Given the description of an element on the screen output the (x, y) to click on. 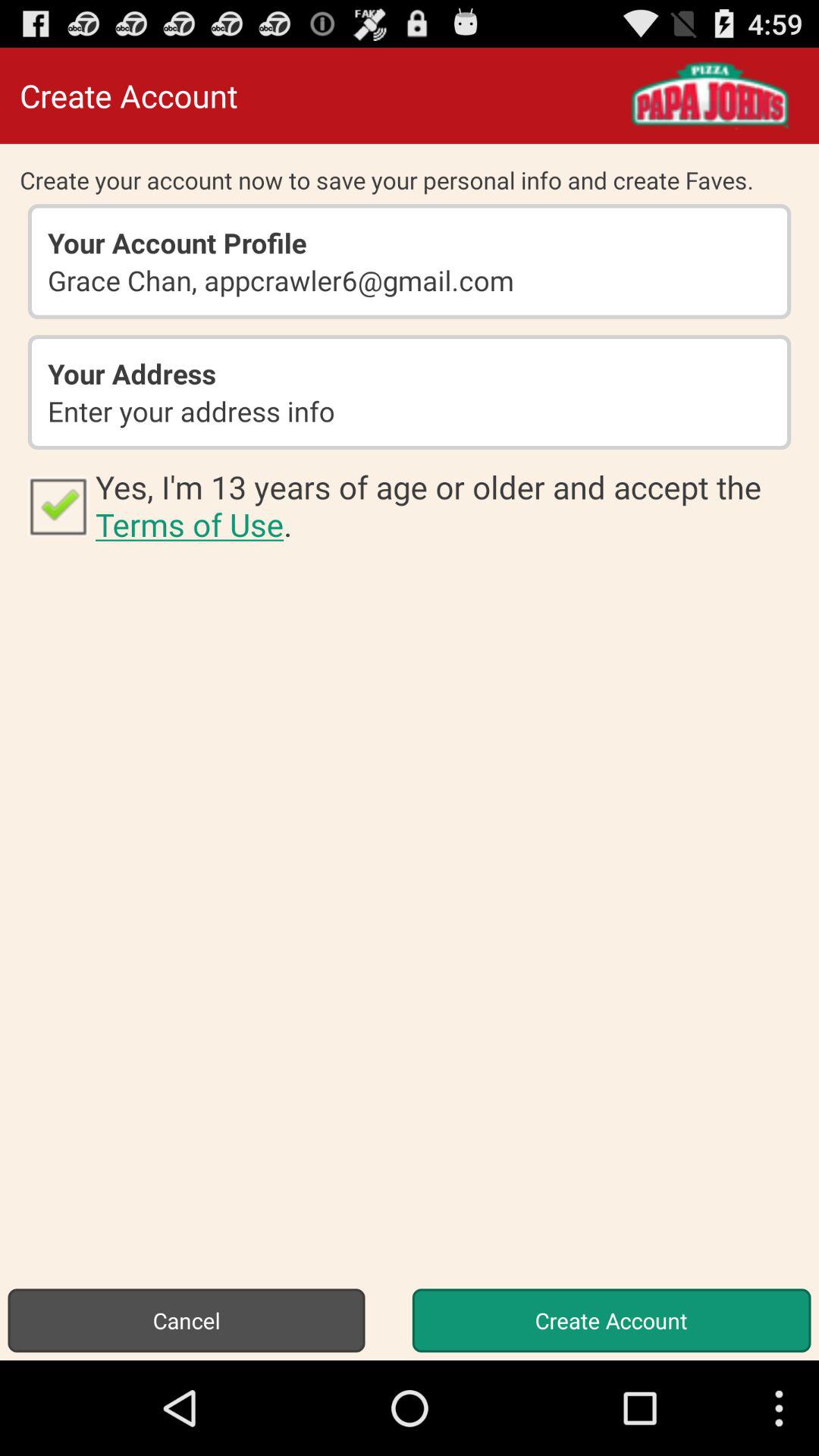
select icon at the bottom left corner (186, 1320)
